Given the description of an element on the screen output the (x, y) to click on. 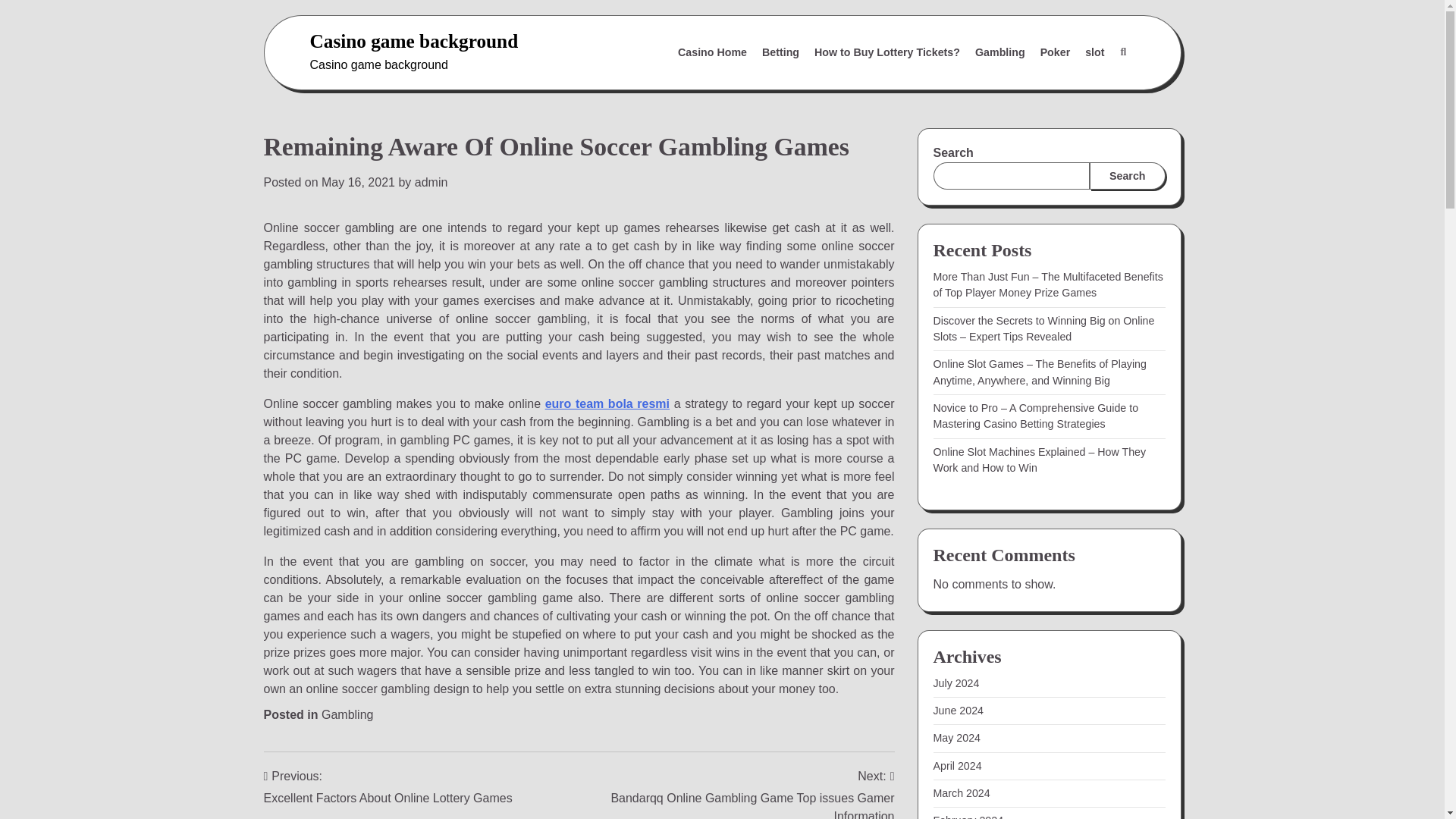
Gambling (346, 714)
February 2024 (968, 816)
July 2024 (955, 683)
Search (1086, 88)
June 2024 (958, 710)
Gambling (1000, 51)
May 2024 (956, 737)
Casino game background (413, 40)
Casino Home (711, 51)
